Given the description of an element on the screen output the (x, y) to click on. 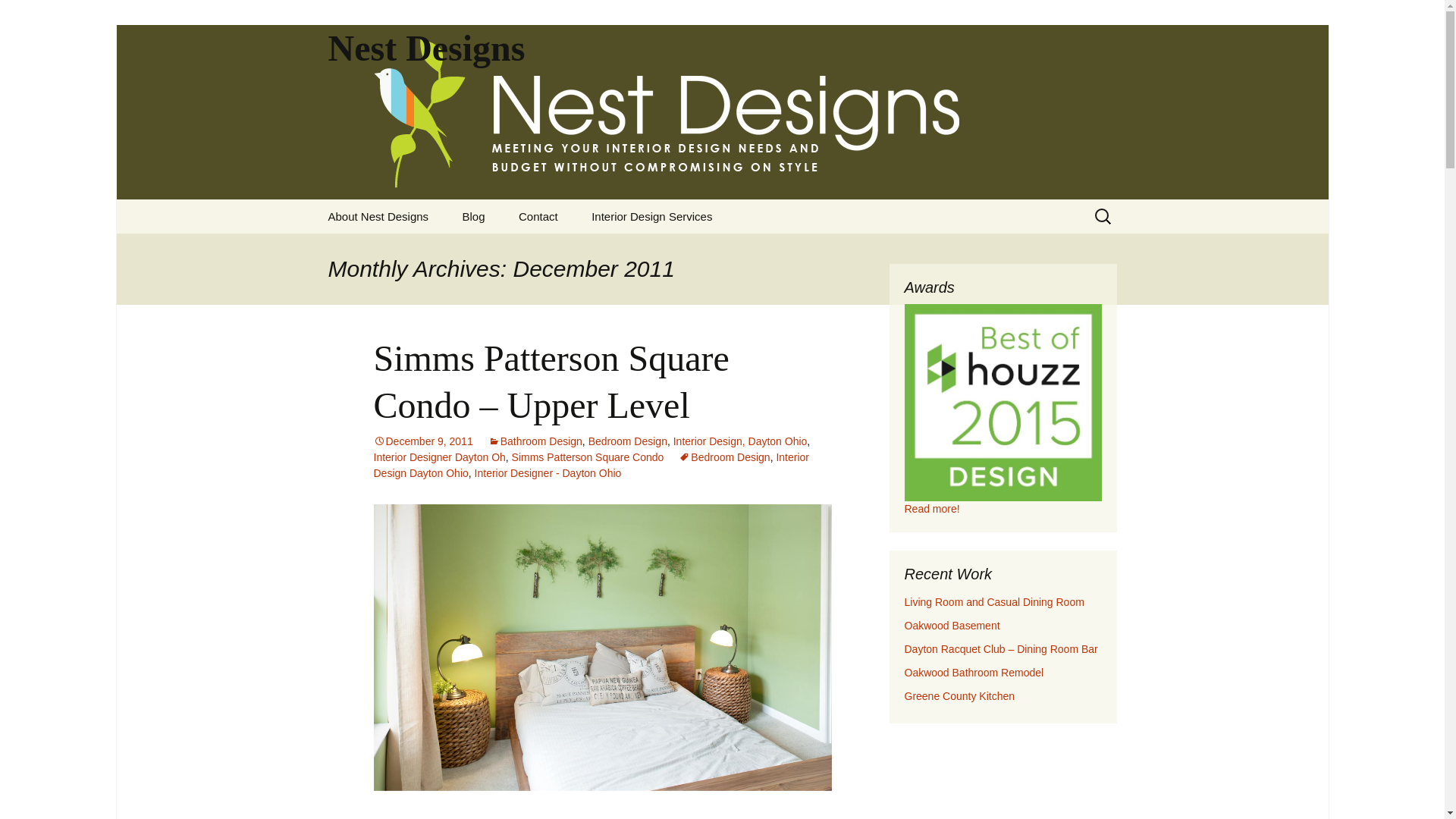
Bedroom Design (724, 457)
Simms Patterson Square Condo (587, 457)
Search (18, 15)
Contact (538, 216)
Interior Design Dayton Ohio (590, 465)
About Nest Designs (378, 216)
Blog (473, 216)
Bathroom Design (534, 440)
December 9, 2011 (421, 440)
